Given the description of an element on the screen output the (x, y) to click on. 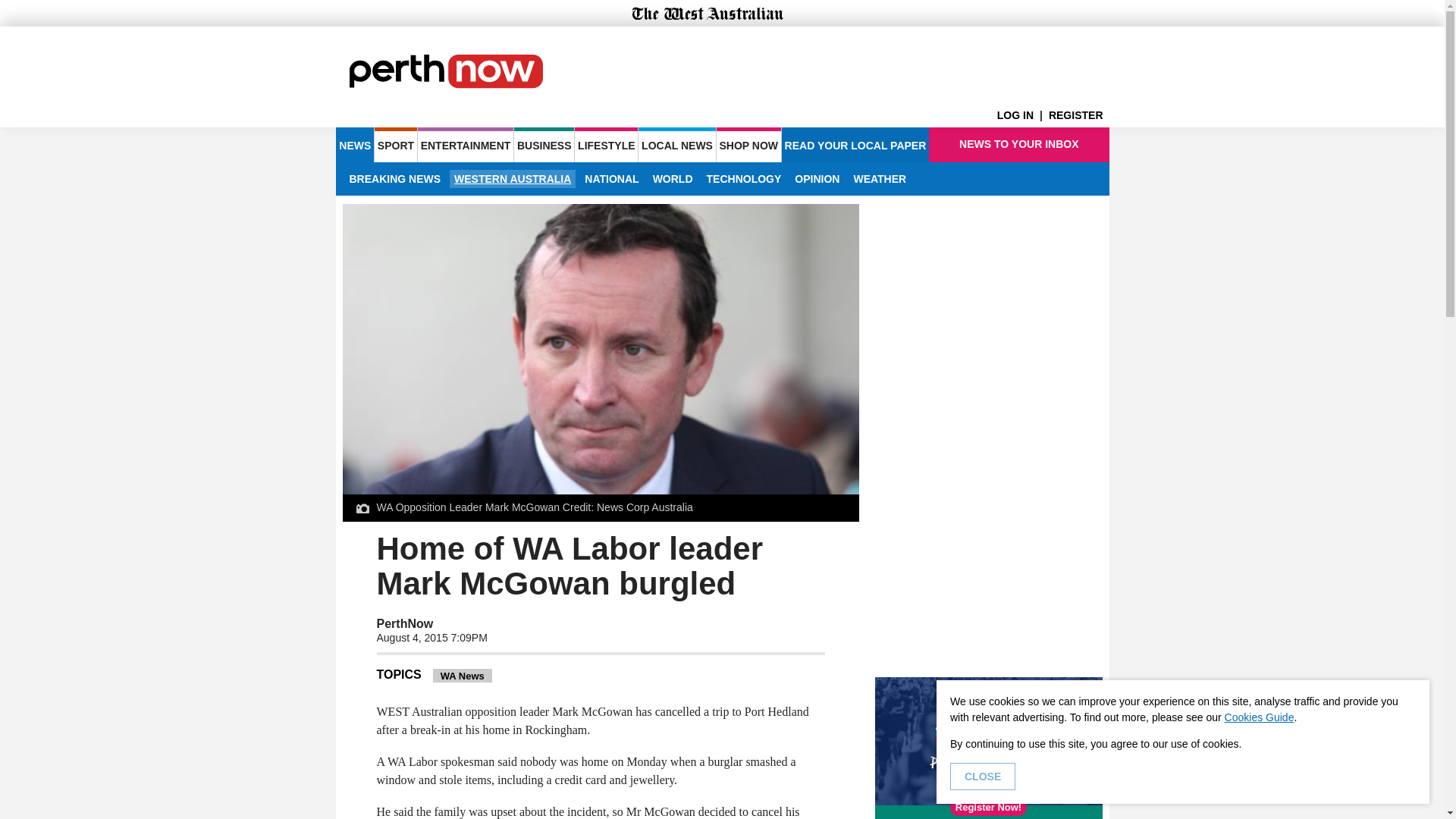
REGISTER (1078, 115)
LOG IN (1022, 115)
ENTERTAINMENT (465, 144)
SPORT (395, 144)
NEWS (354, 144)
